Given the description of an element on the screen output the (x, y) to click on. 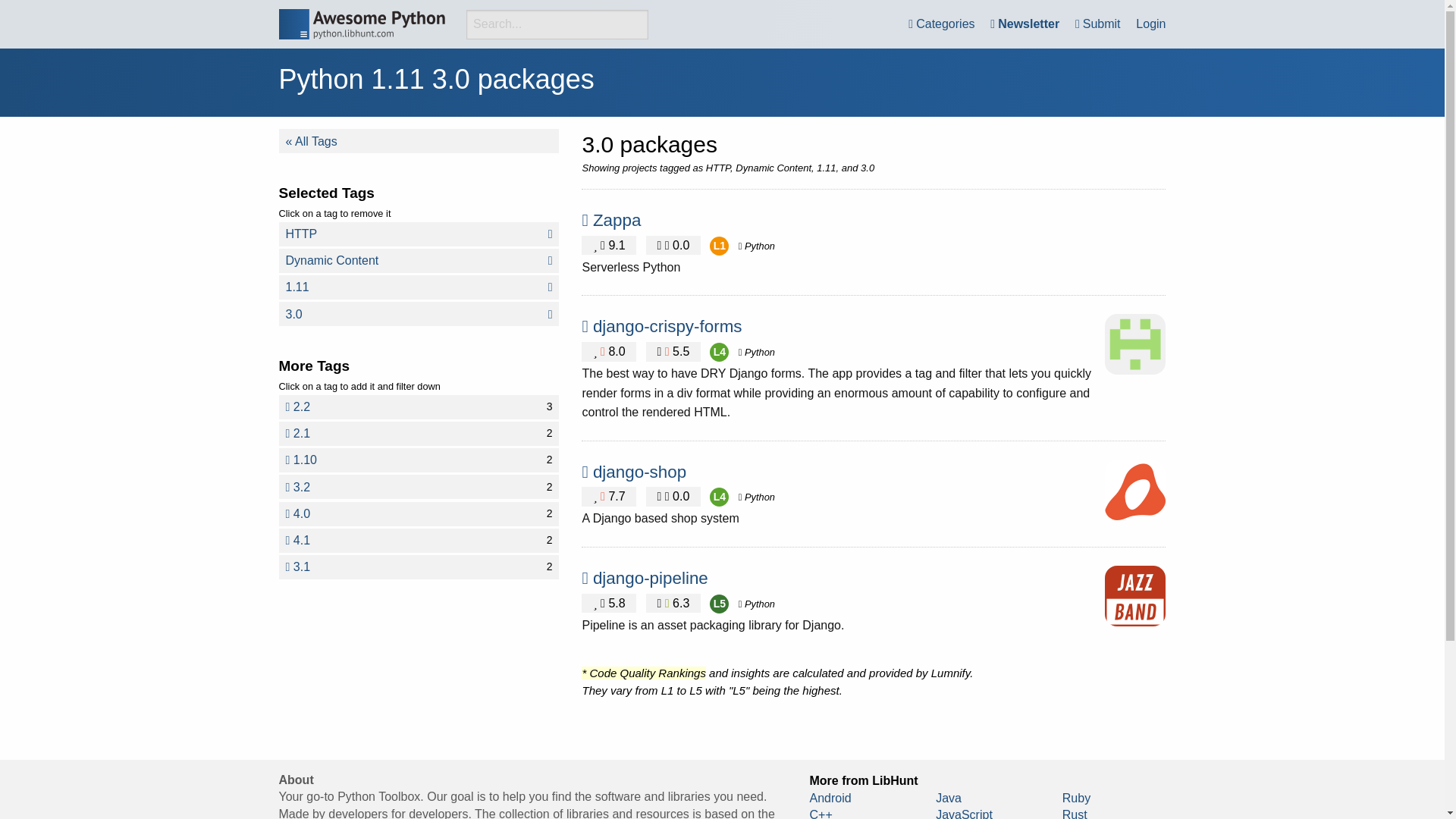
Newsletter (1024, 24)
Categories (941, 24)
django-crispy-forms (667, 325)
django-shop (418, 406)
Primary programming language (638, 471)
HTTP (418, 514)
Dynamic Content (756, 351)
Code Quality Rank provided by Lumnify (418, 233)
3.0 (418, 260)
Zappa (418, 486)
Awesome Python (719, 496)
Primary programming language (418, 313)
